Given the description of an element on the screen output the (x, y) to click on. 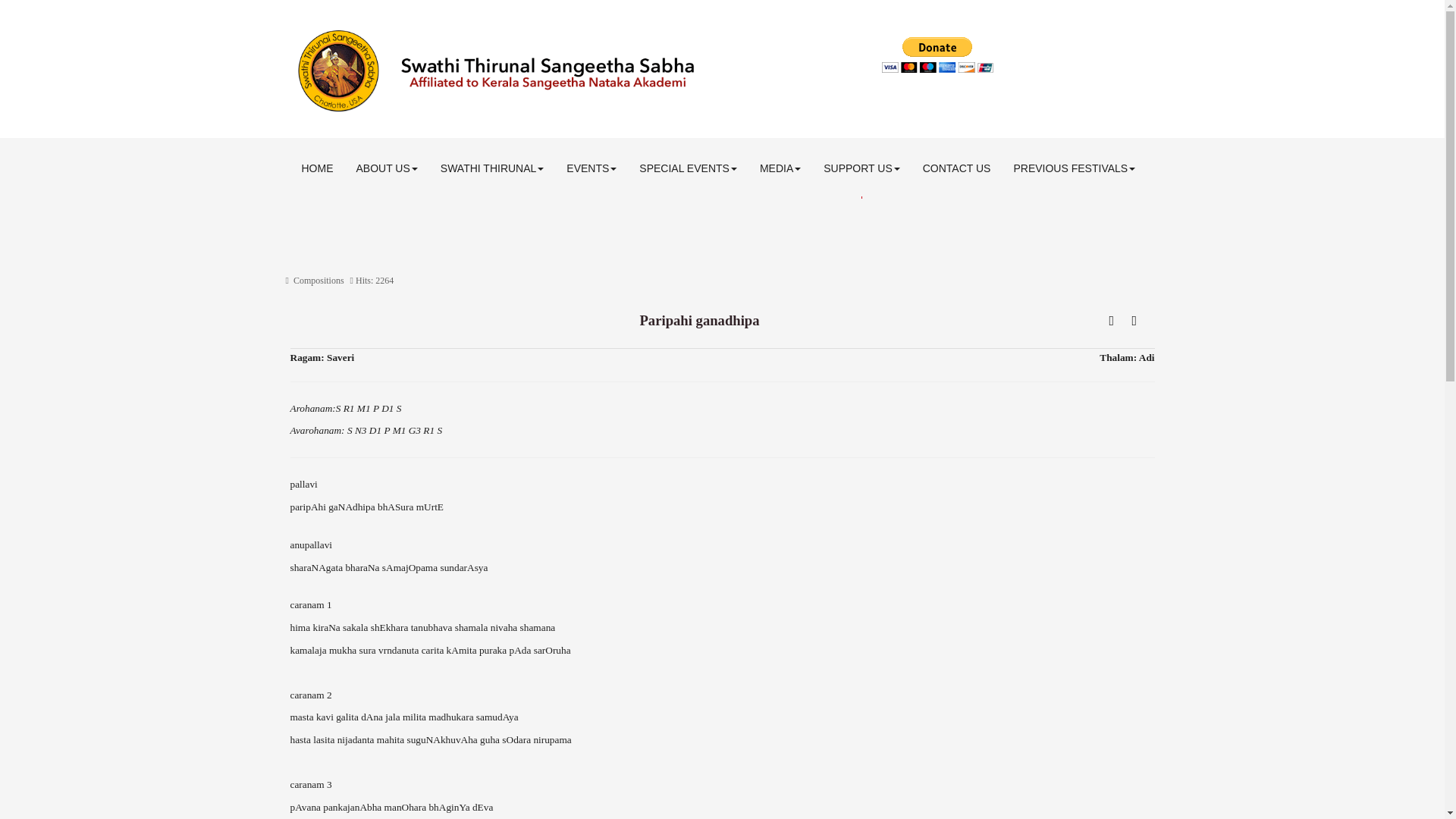
Article Category (318, 280)
HOME (316, 168)
Swathi Thirunal Sangeetha Sabha (574, 70)
ABOUT US (385, 168)
PayPal - The safer, easier way to pay online! (936, 54)
